Given the description of an element on the screen output the (x, y) to click on. 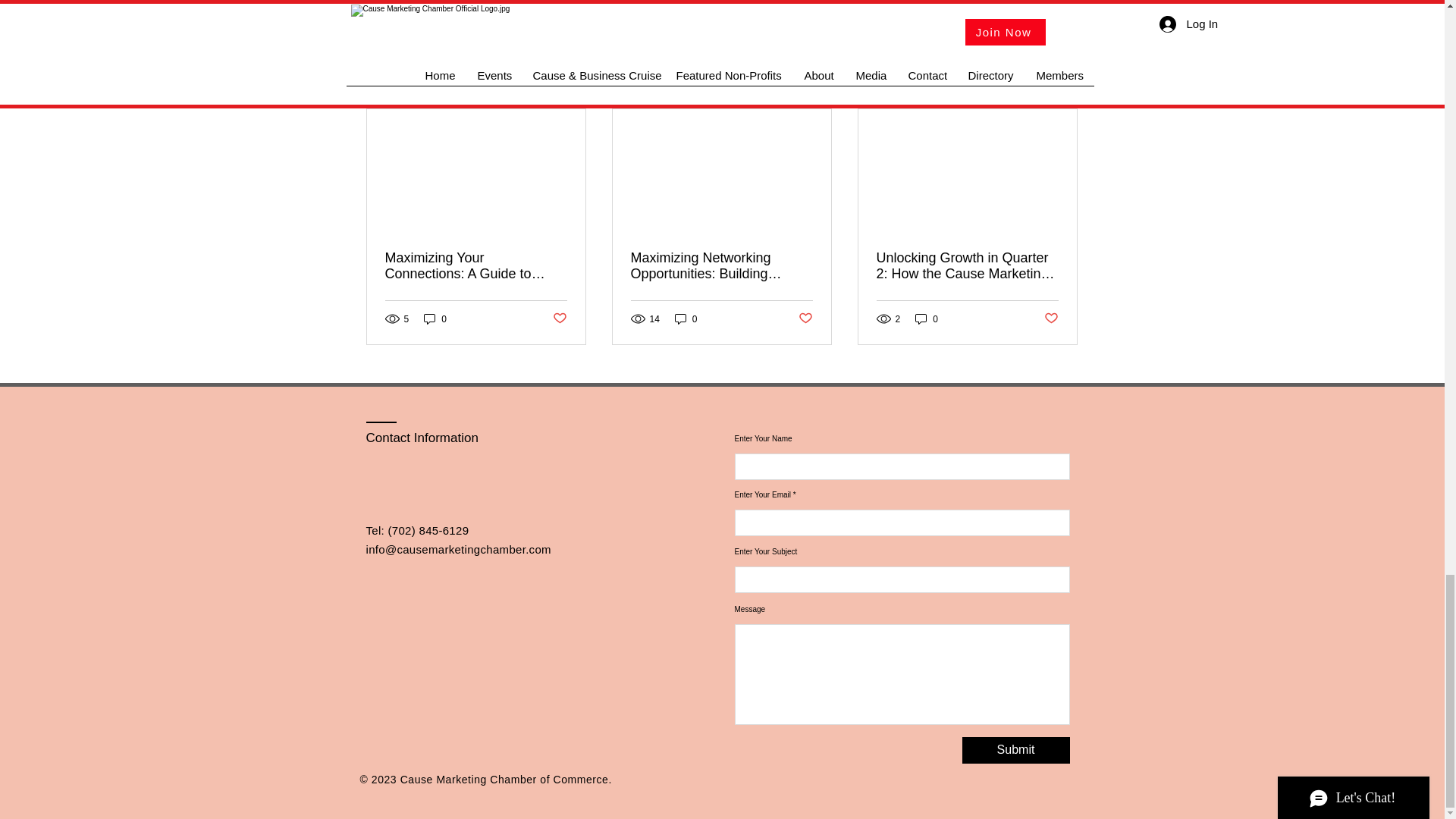
0 (926, 318)
Post not marked as liked (804, 318)
See All (1061, 82)
Post not marked as liked (558, 318)
0 (435, 318)
Post not marked as liked (990, 3)
0 (1050, 318)
